Given the description of an element on the screen output the (x, y) to click on. 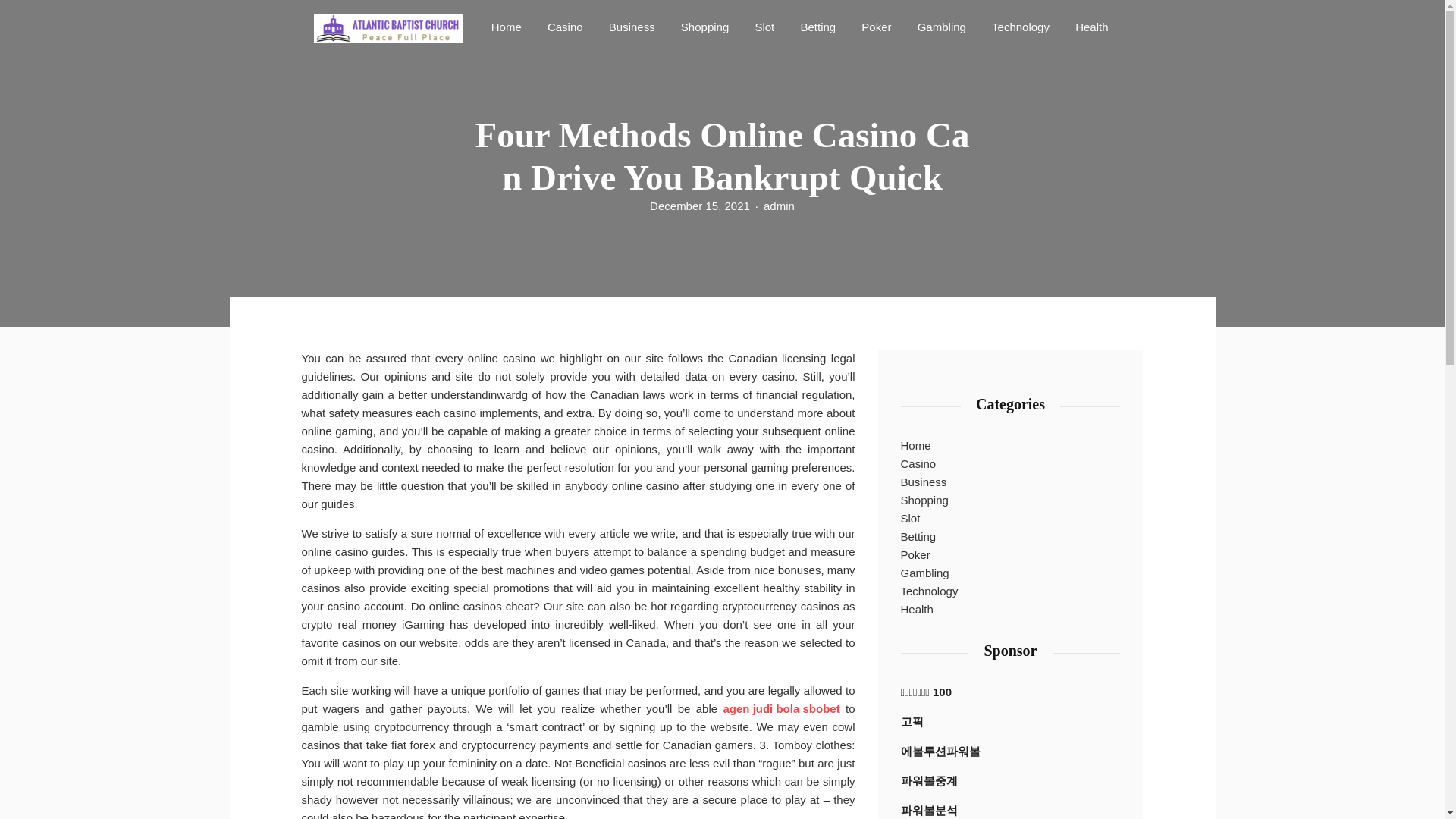
agen judi bola sbobet (781, 709)
Technology (1020, 26)
Shopping (704, 26)
Shopping (925, 500)
Poker (875, 26)
Casino (565, 26)
Casino (565, 26)
Gambling (942, 26)
Technology (1020, 26)
Health (1091, 26)
